Given the description of an element on the screen output the (x, y) to click on. 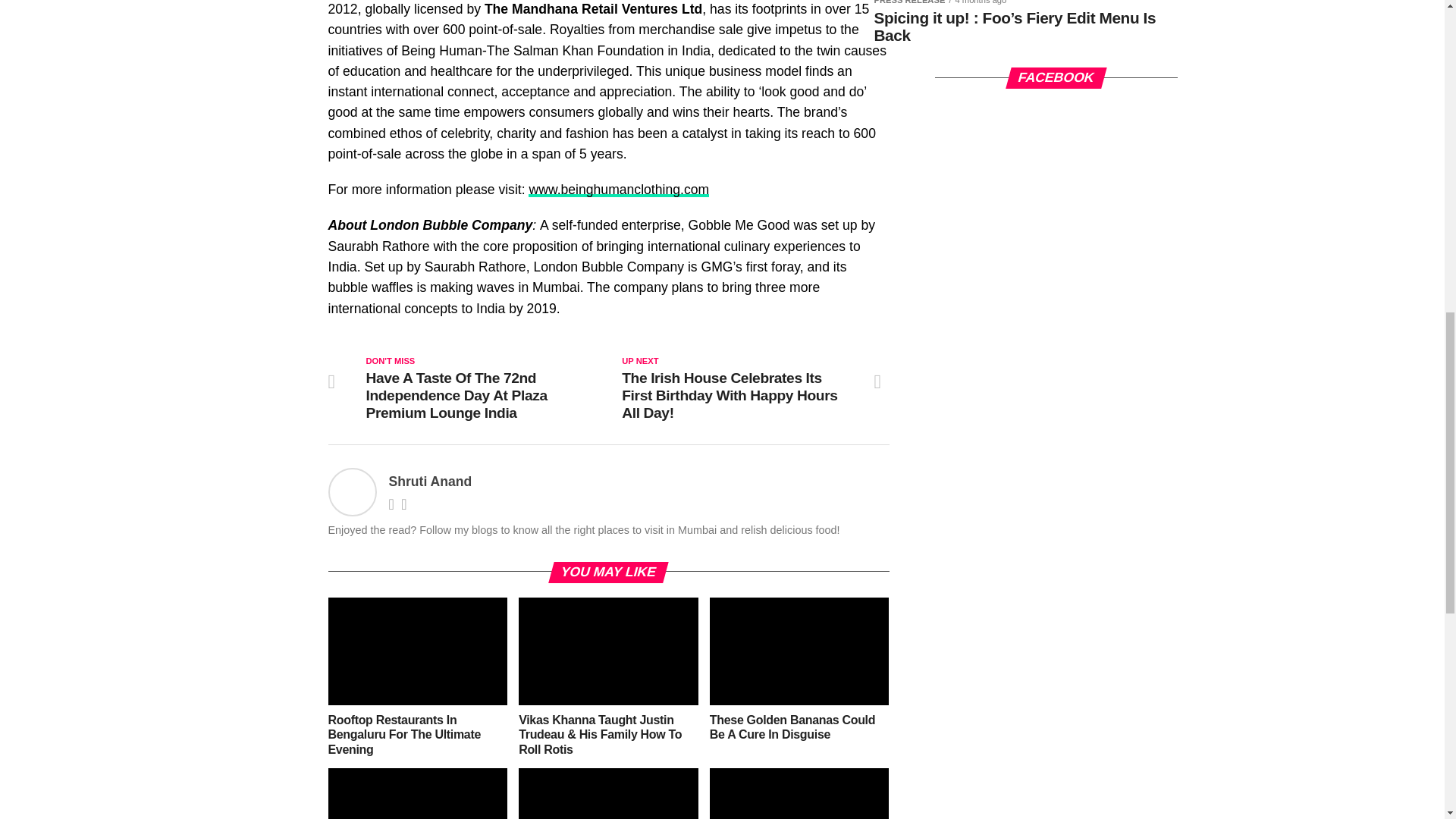
www.beinghumanclothing.com (618, 189)
Shruti Anand (429, 481)
Posts by Shruti Anand (429, 481)
